Given the description of an element on the screen output the (x, y) to click on. 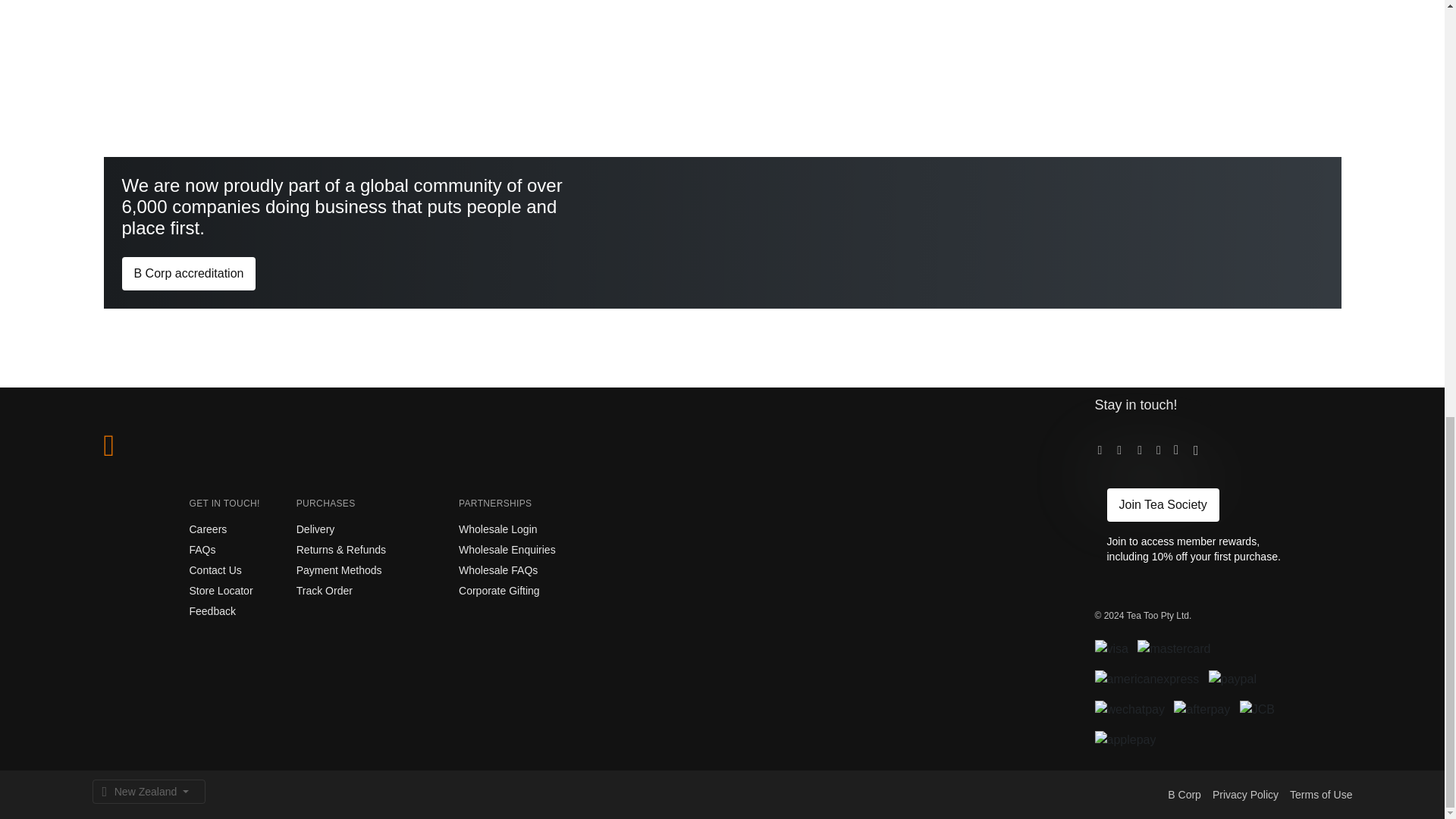
Go to FAQs (202, 549)
Store Locator (221, 590)
Go to Contact Us (215, 570)
Feedback (212, 611)
Go to Delivery (315, 529)
Go to Careers (208, 529)
